Given the description of an element on the screen output the (x, y) to click on. 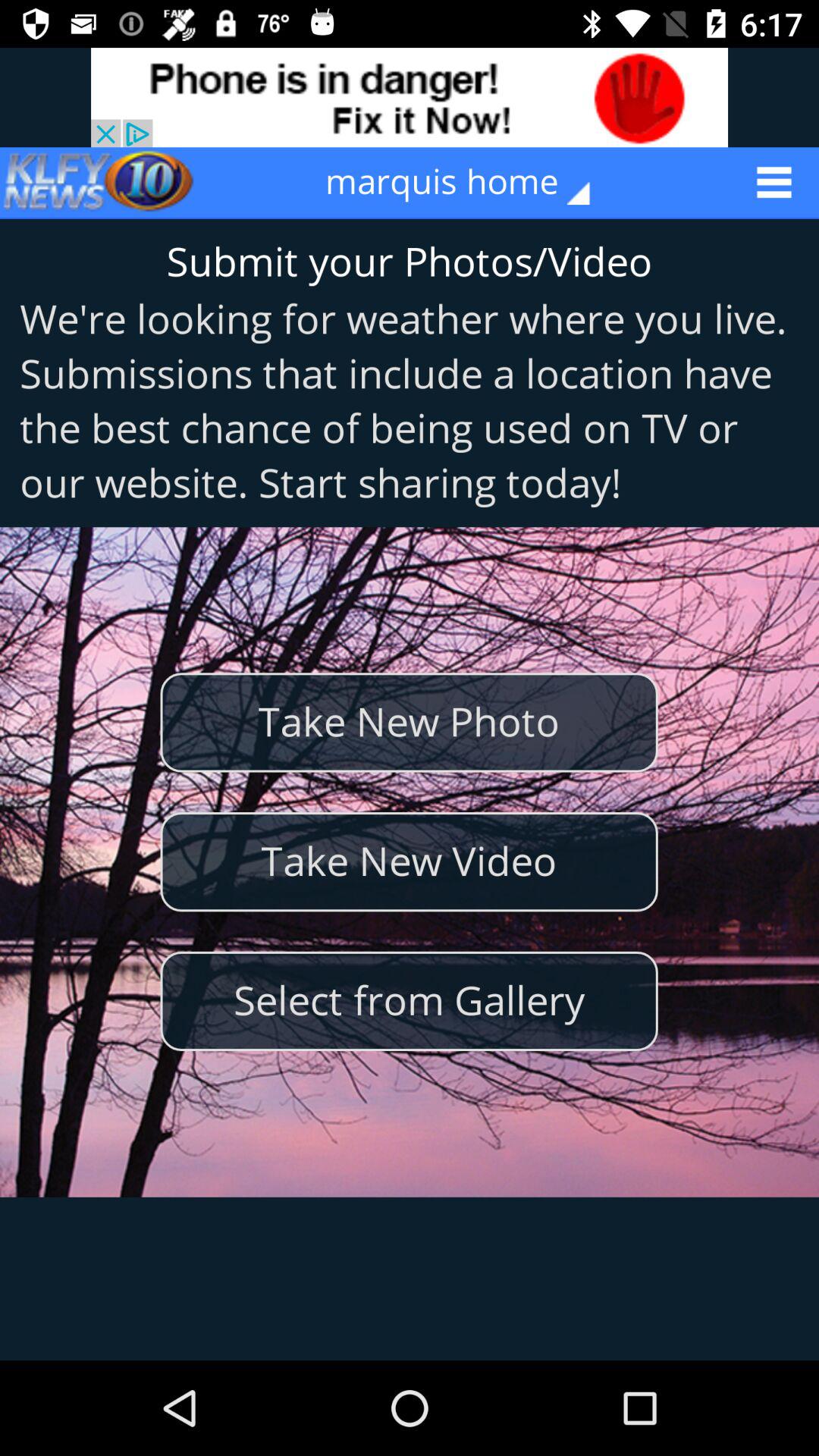
launch item next to the marquis home item (99, 182)
